Given the description of an element on the screen output the (x, y) to click on. 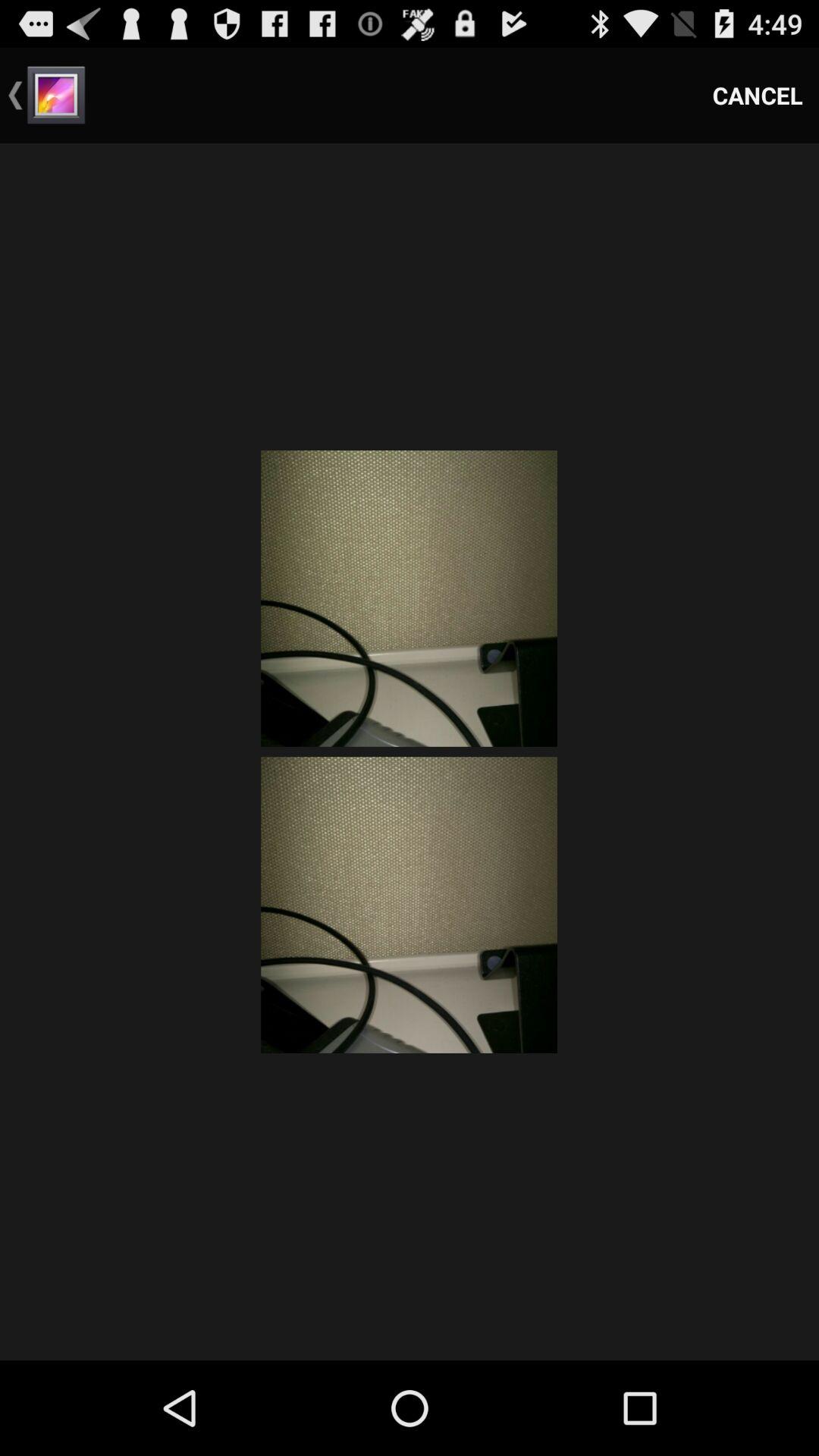
click the cancel (757, 95)
